Given the description of an element on the screen output the (x, y) to click on. 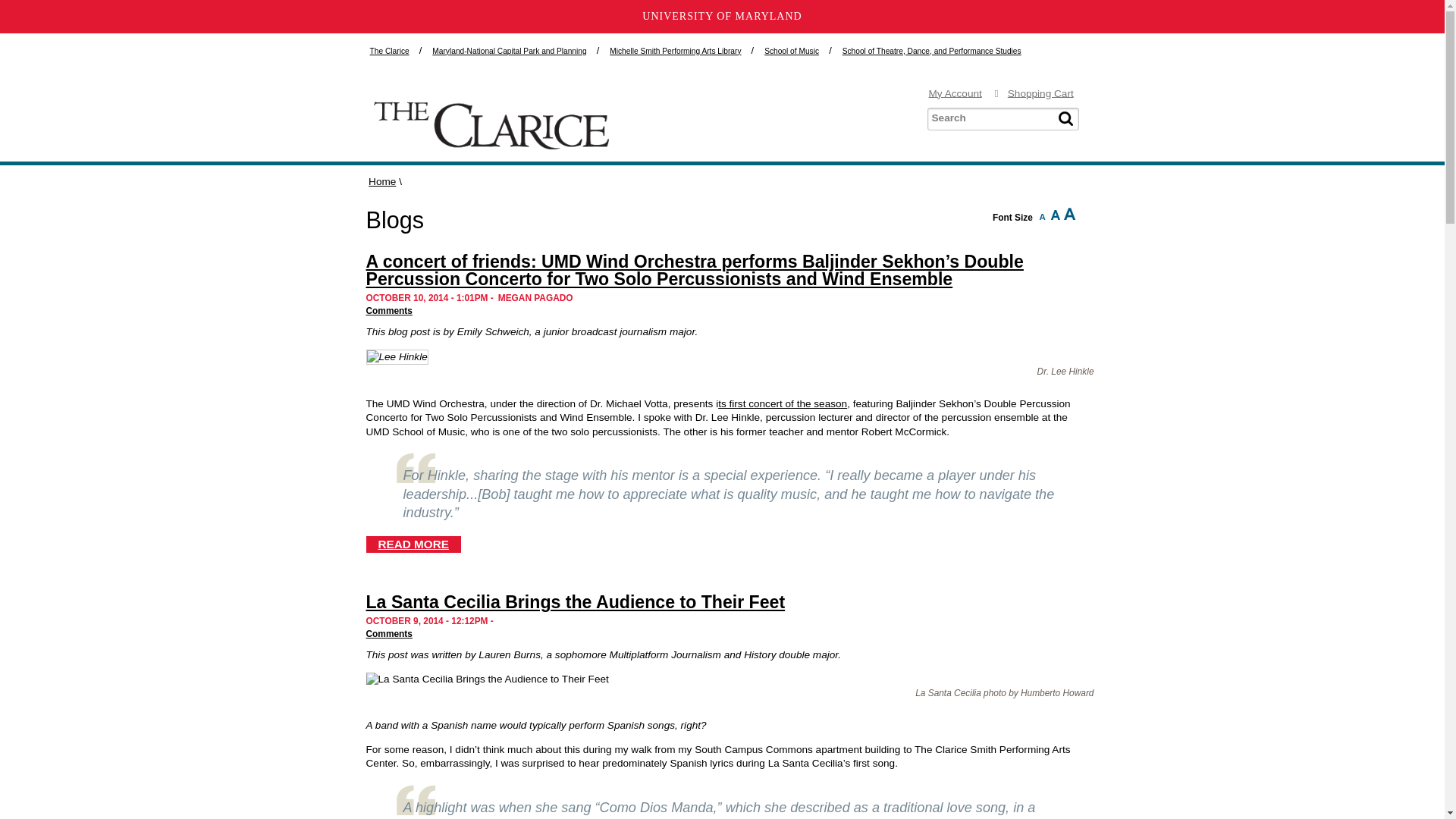
Michelle Smith Performing Arts Library (675, 50)
Maryland-National Capital Park and Planning (509, 50)
School of Theatre, Dance, and Performance Studies (932, 50)
The Clarice Smith Performing Arts Center (490, 145)
Shopping Cart (1042, 92)
UNIVERSITY OF MARYLAND (722, 16)
Go (1065, 118)
My Account (957, 92)
Enter the terms you wish to search for. (1002, 119)
The Clarice (389, 50)
Go (1065, 118)
School of Music (791, 50)
